Given the description of an element on the screen output the (x, y) to click on. 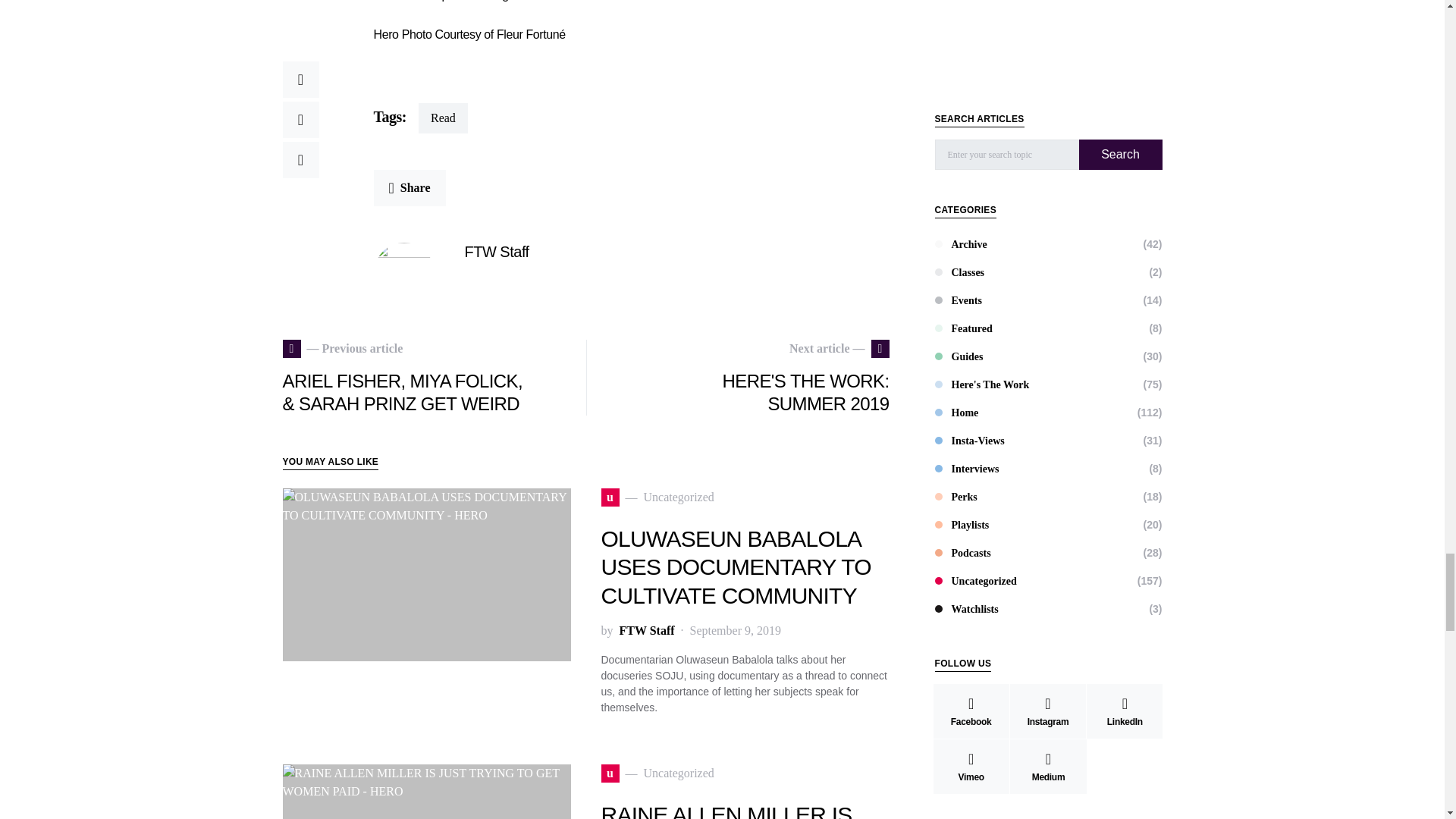
View all posts by FTW Staff (646, 630)
